Given the description of an element on the screen output the (x, y) to click on. 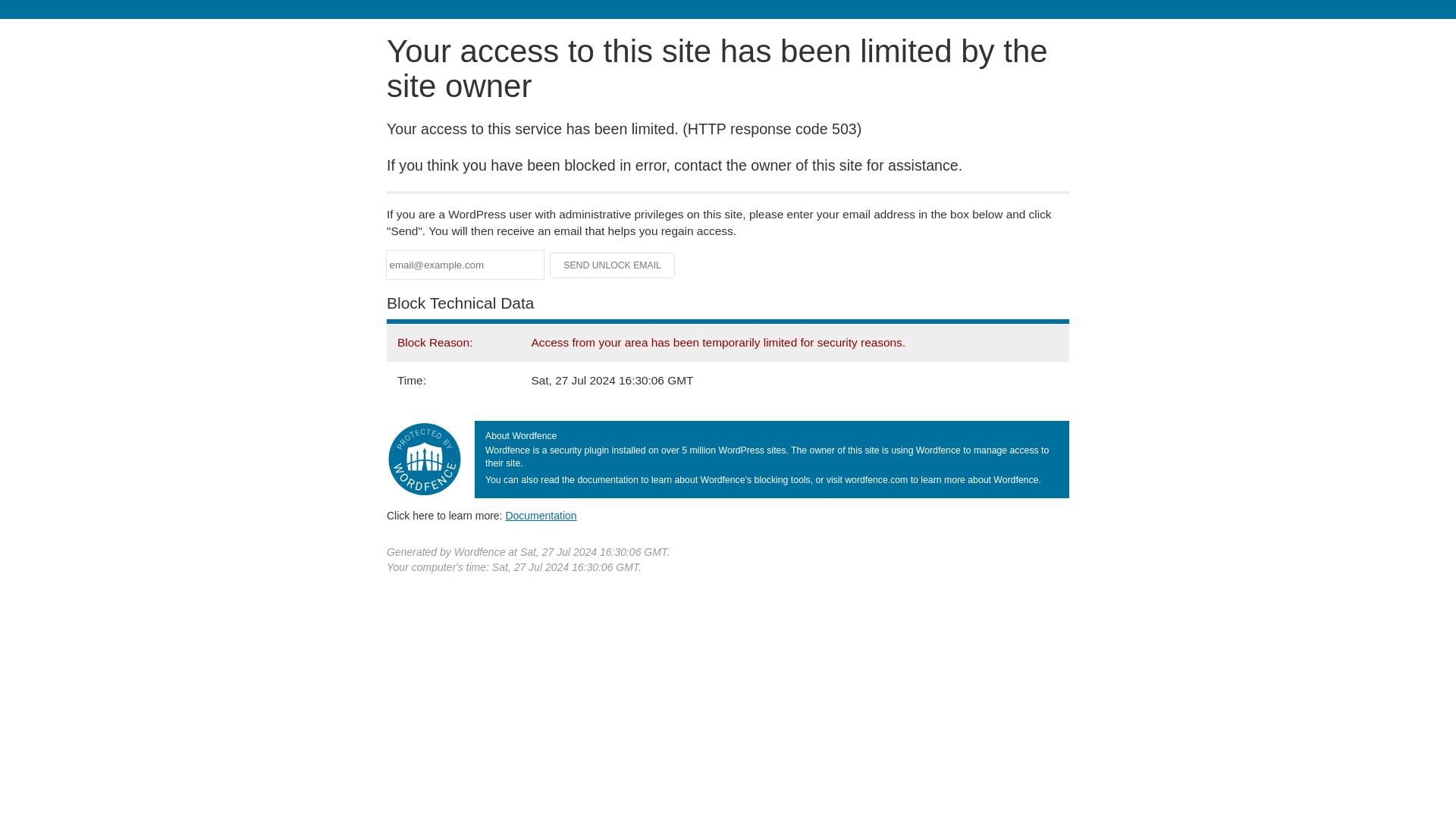
Send Unlock Email (612, 265)
Send Unlock Email (612, 265)
Documentation (540, 515)
